Given the description of an element on the screen output the (x, y) to click on. 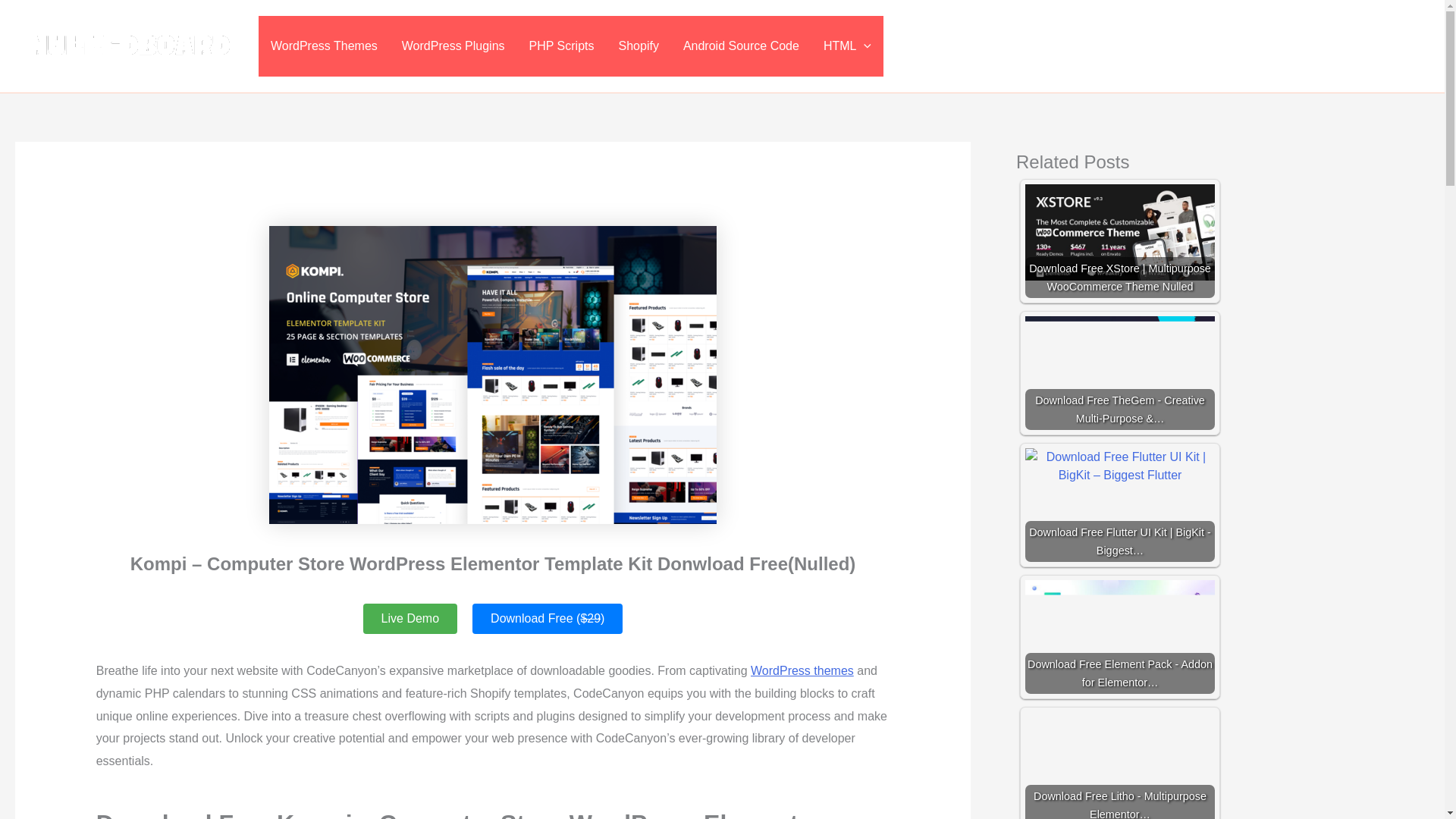
HTML (846, 45)
WordPress Themes (324, 45)
Android Source Code (740, 45)
PHP Scripts (561, 45)
WordPress Plugins (453, 45)
WordPress themes (802, 670)
Search (1410, 46)
Shopify (639, 45)
Live Demo (409, 618)
